Given the description of an element on the screen output the (x, y) to click on. 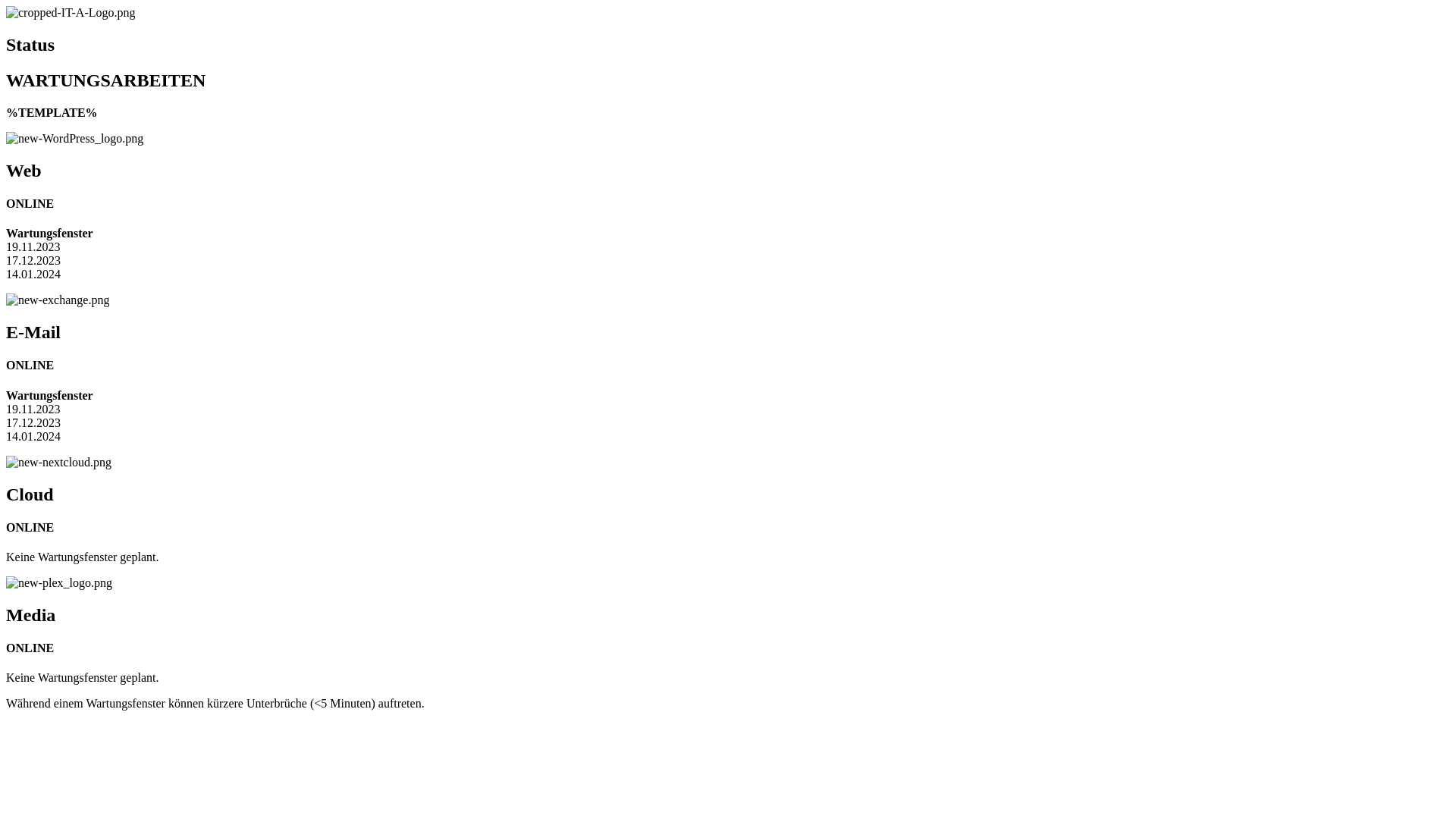
new-nextcloud.png Element type: hover (58, 462)
cropped-IT-A-Logo.png Element type: hover (70, 12)
new-exchange.png Element type: hover (57, 300)
new-WordPress_logo.png Element type: hover (74, 138)
new-plex_logo.png Element type: hover (59, 582)
